Given the description of an element on the screen output the (x, y) to click on. 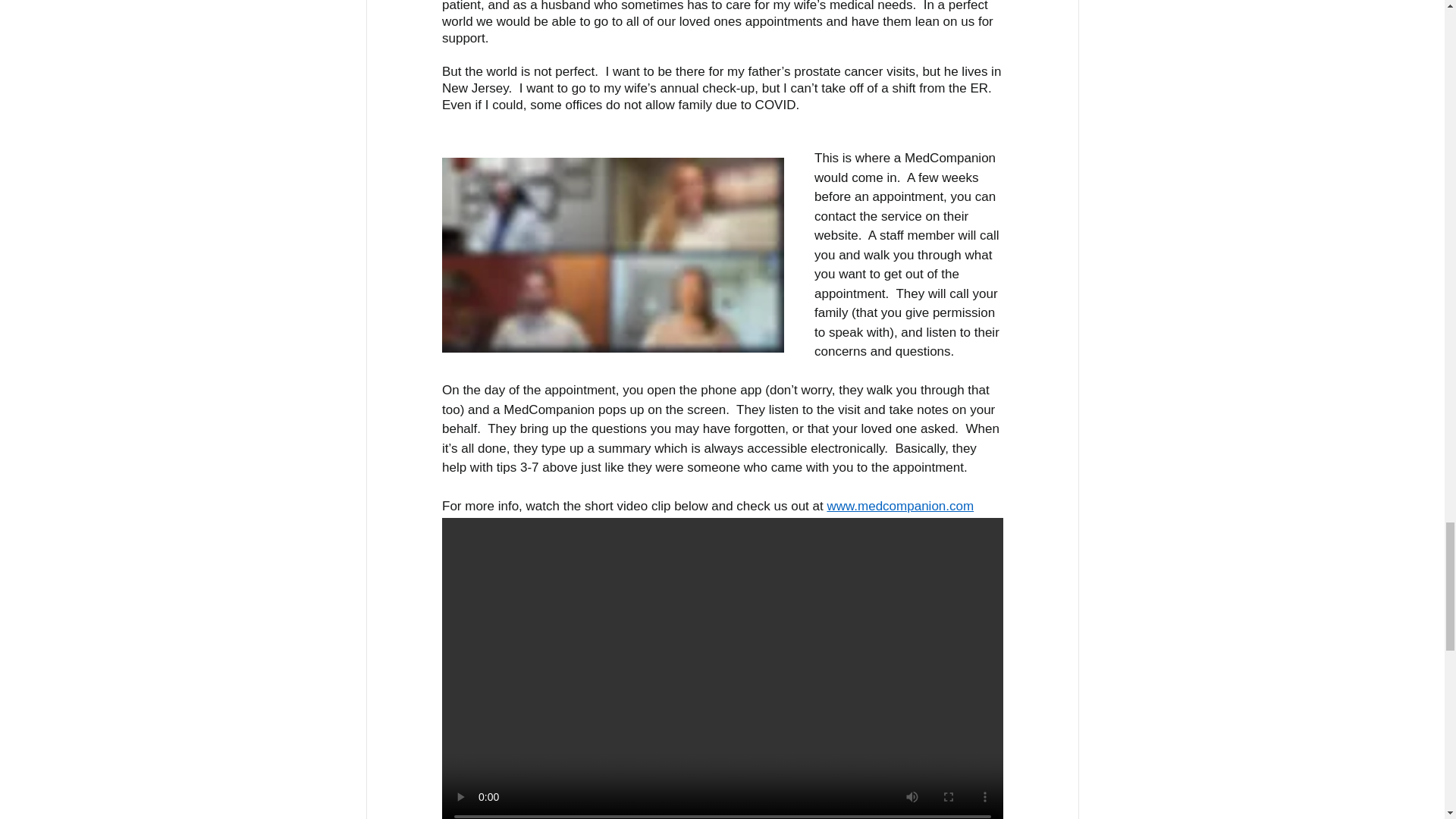
www.medcompanion.com (900, 505)
